Given the description of an element on the screen output the (x, y) to click on. 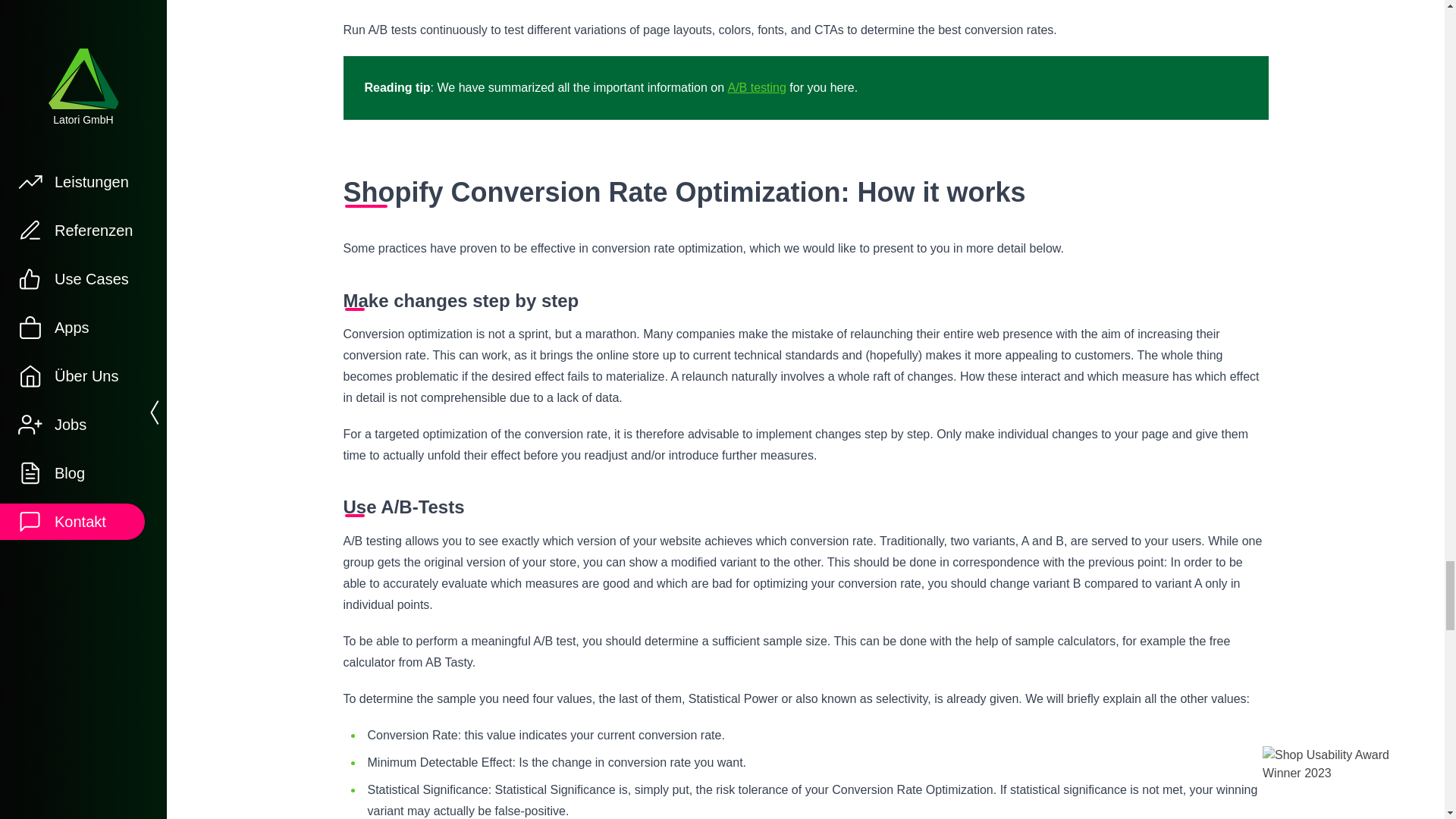
Shopify Conversion Rate Optimization: How it works (805, 192)
Make changes step by step (805, 300)
